Given the description of an element on the screen output the (x, y) to click on. 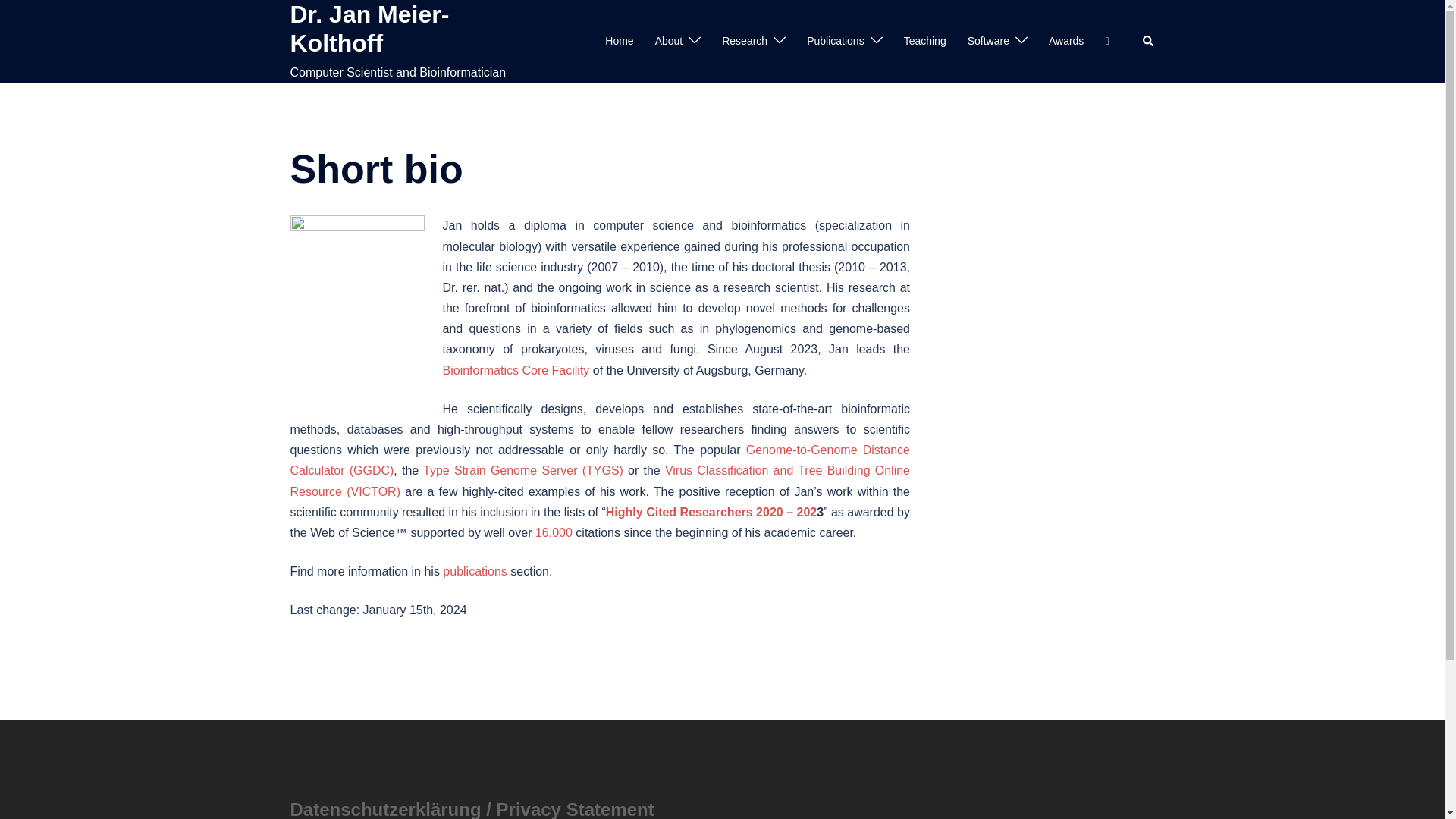
Dr. Jan Meier-Kolthoff (368, 28)
Software (988, 41)
Awards (1065, 41)
Teaching (925, 41)
Home (619, 41)
About (668, 41)
Research (744, 41)
Publications (835, 41)
Search (1147, 40)
